Given the description of an element on the screen output the (x, y) to click on. 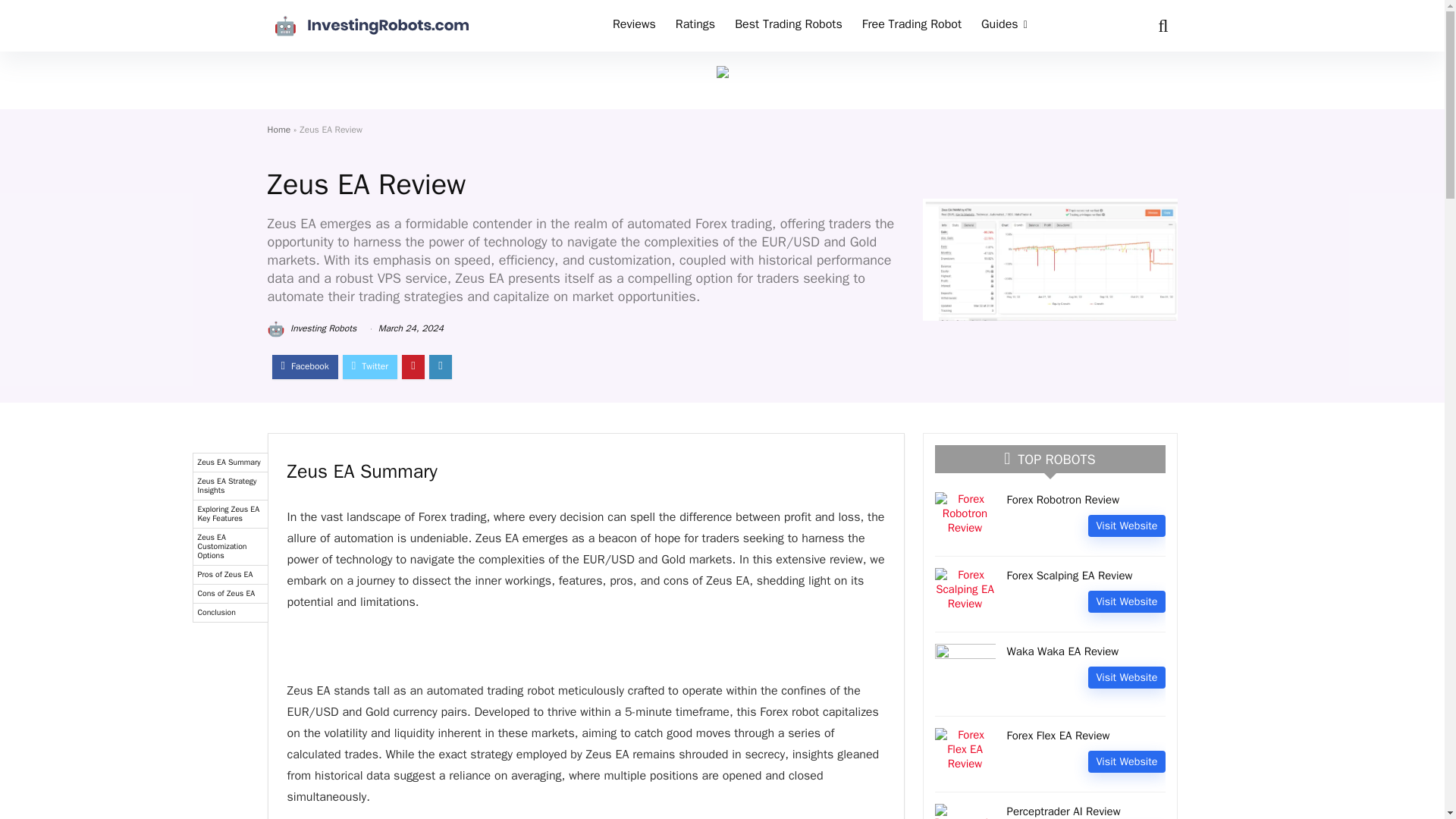
Zeus EA Strategy Insights (229, 486)
Zeus EA Customization Options (229, 546)
Pros of Zeus EA (229, 574)
Home (277, 129)
Exploring Zeus EA Key Features (229, 514)
Free Trading Robot (911, 25)
Conclusion (229, 612)
Best Trading Robots (788, 25)
Reviews (633, 25)
Ratings (695, 25)
